Given the description of an element on the screen output the (x, y) to click on. 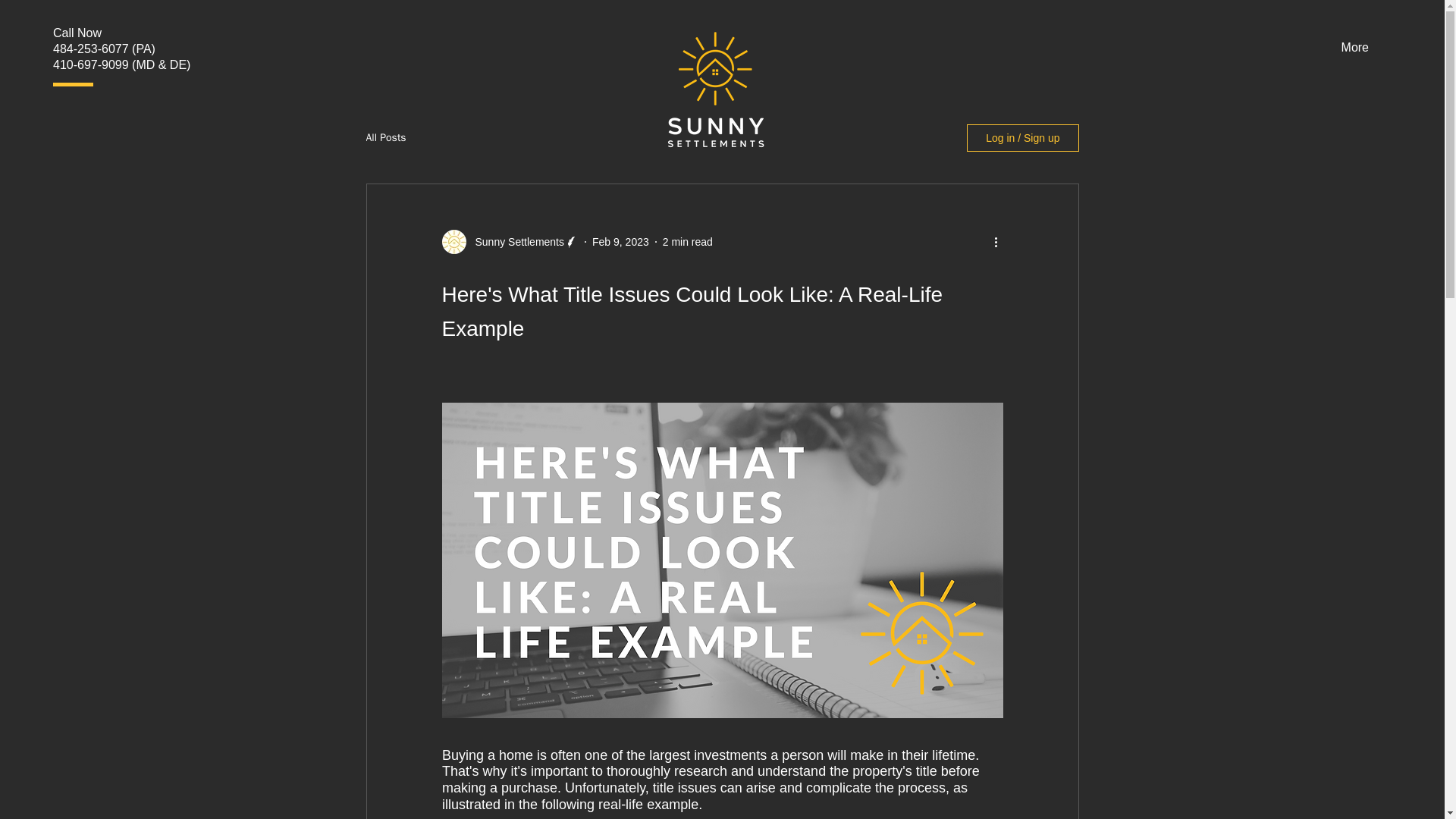
Sunny Settlements (514, 242)
Feb 9, 2023 (620, 241)
All Posts (385, 137)
Call Now (76, 32)
2 min read (687, 241)
